Given the description of an element on the screen output the (x, y) to click on. 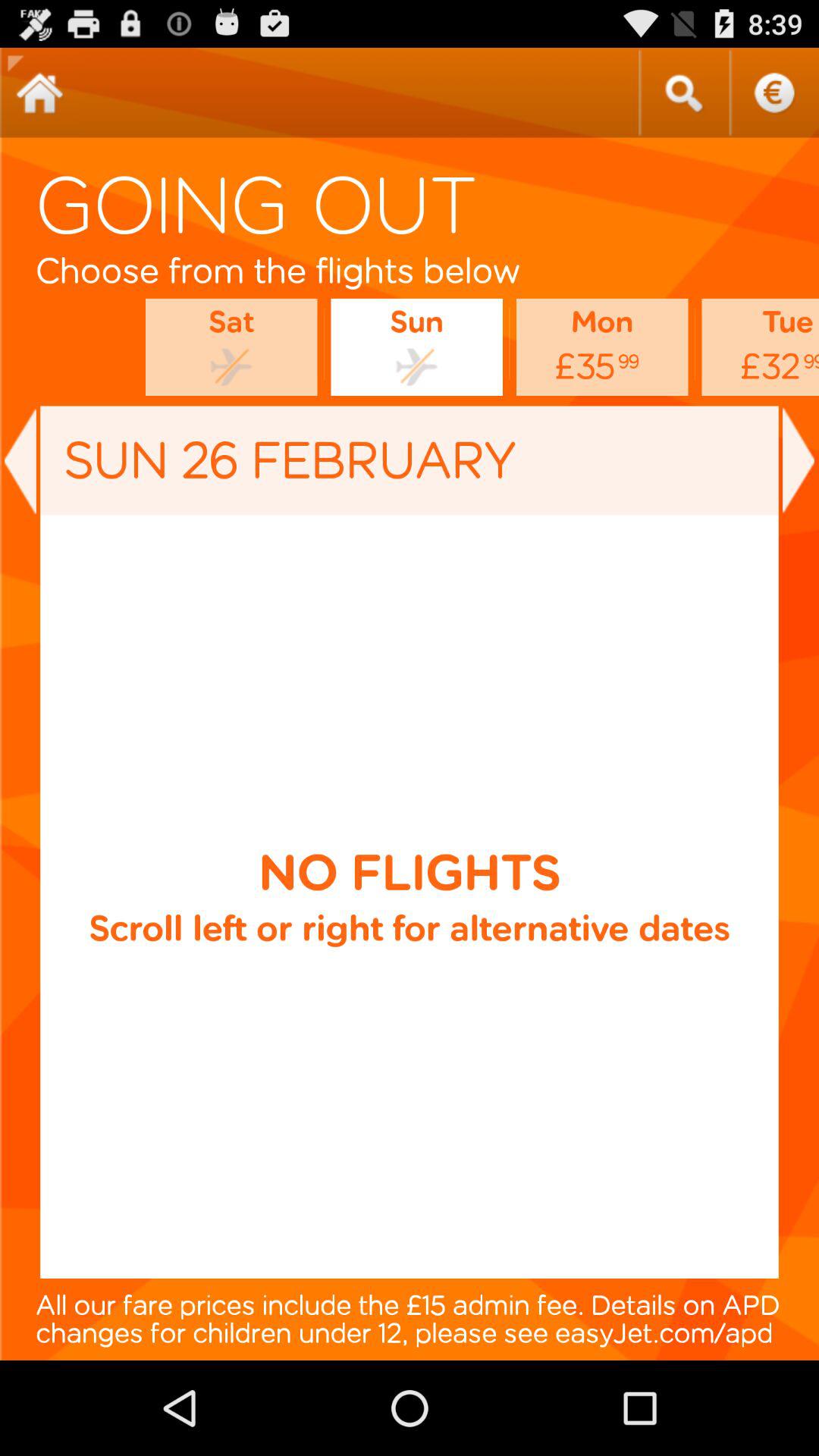
prices or buy (774, 92)
